Given the description of an element on the screen output the (x, y) to click on. 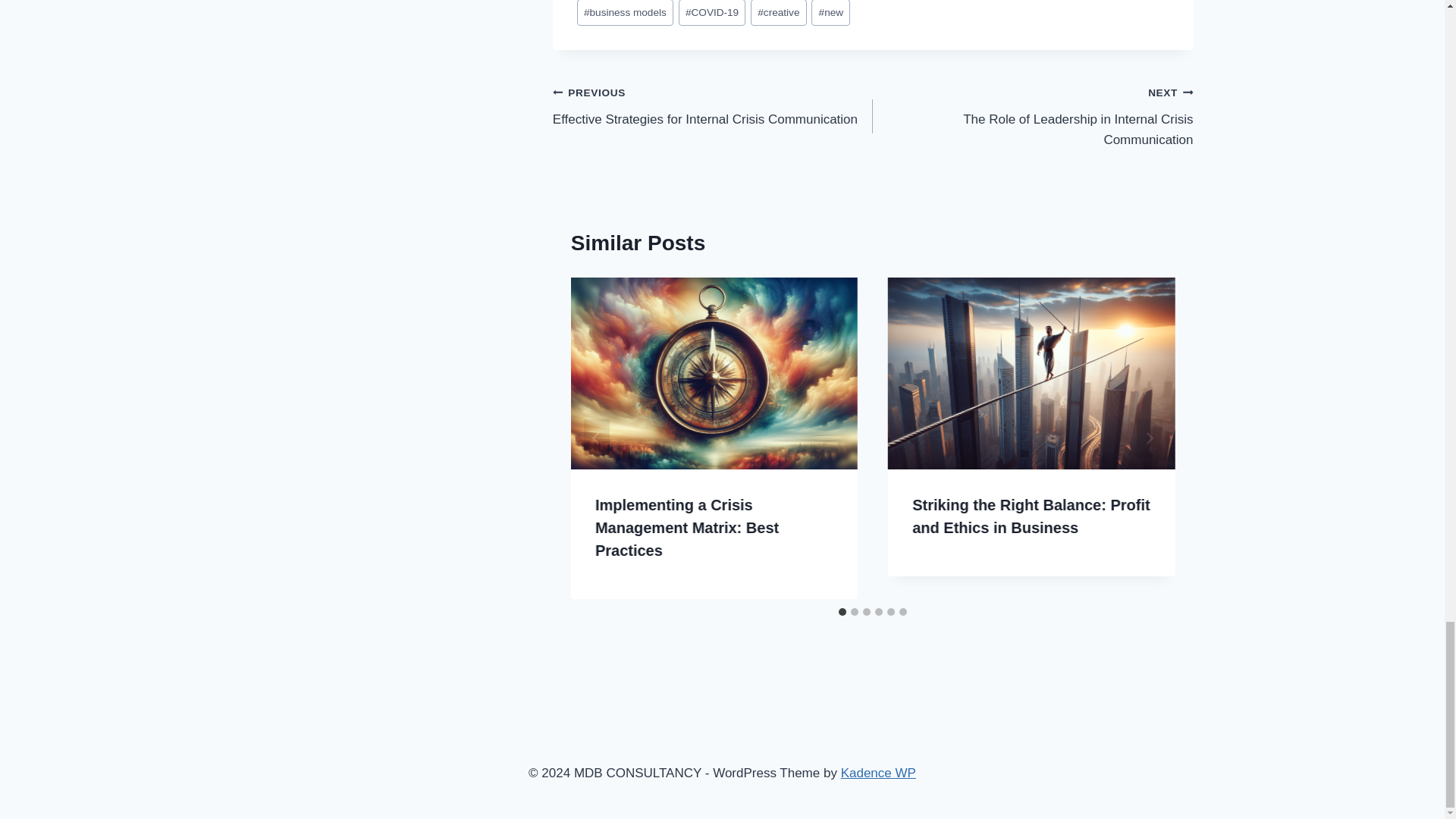
new (830, 12)
Implementing a Crisis Management Matrix: Best Practices (686, 527)
creative (778, 12)
business models (1032, 115)
COVID-19 (624, 12)
Striking the Right Balance: Profit and Ethics in Business (711, 12)
